Given the description of an element on the screen output the (x, y) to click on. 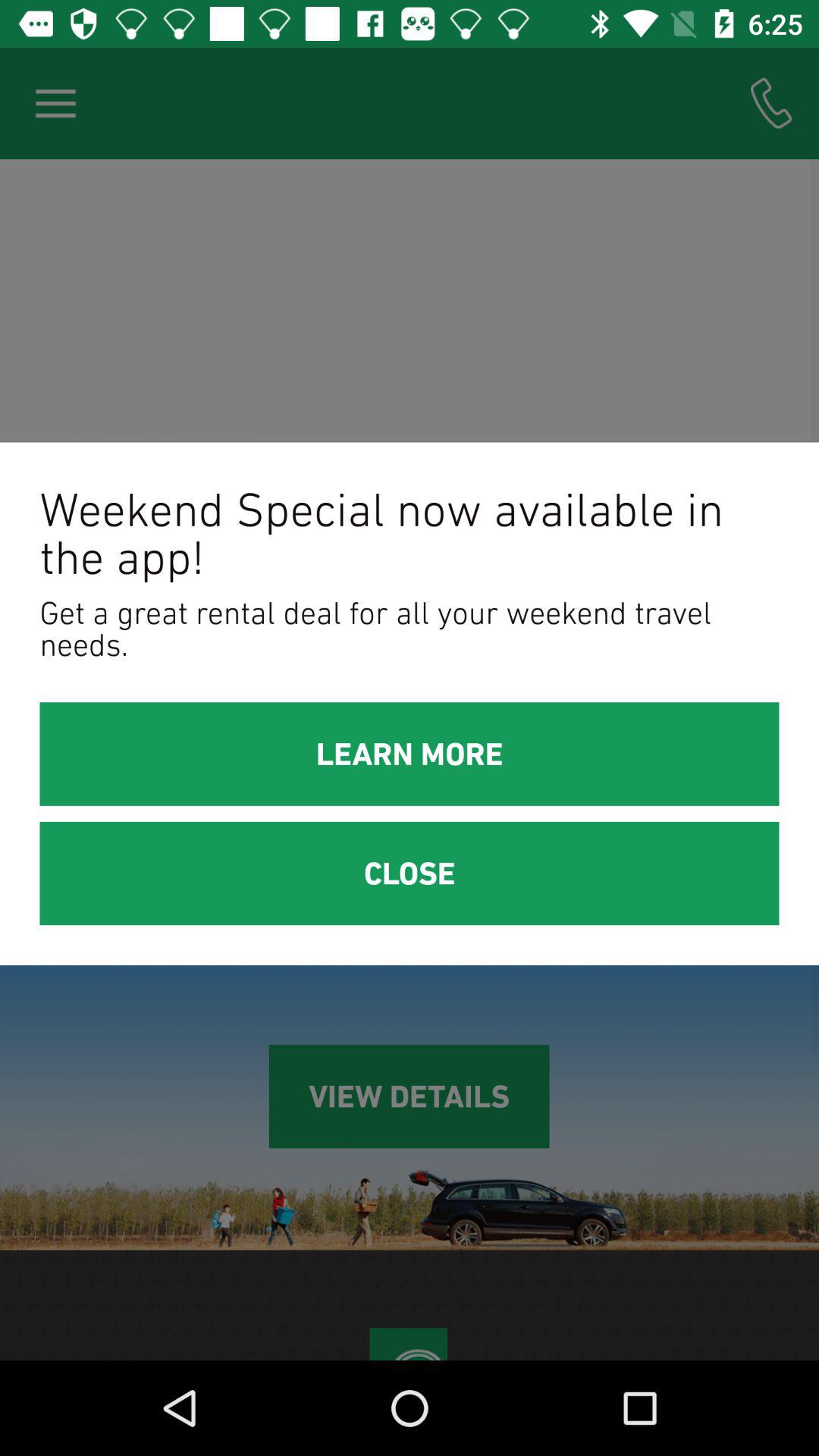
flip to the learn more item (409, 753)
